Given the description of an element on the screen output the (x, y) to click on. 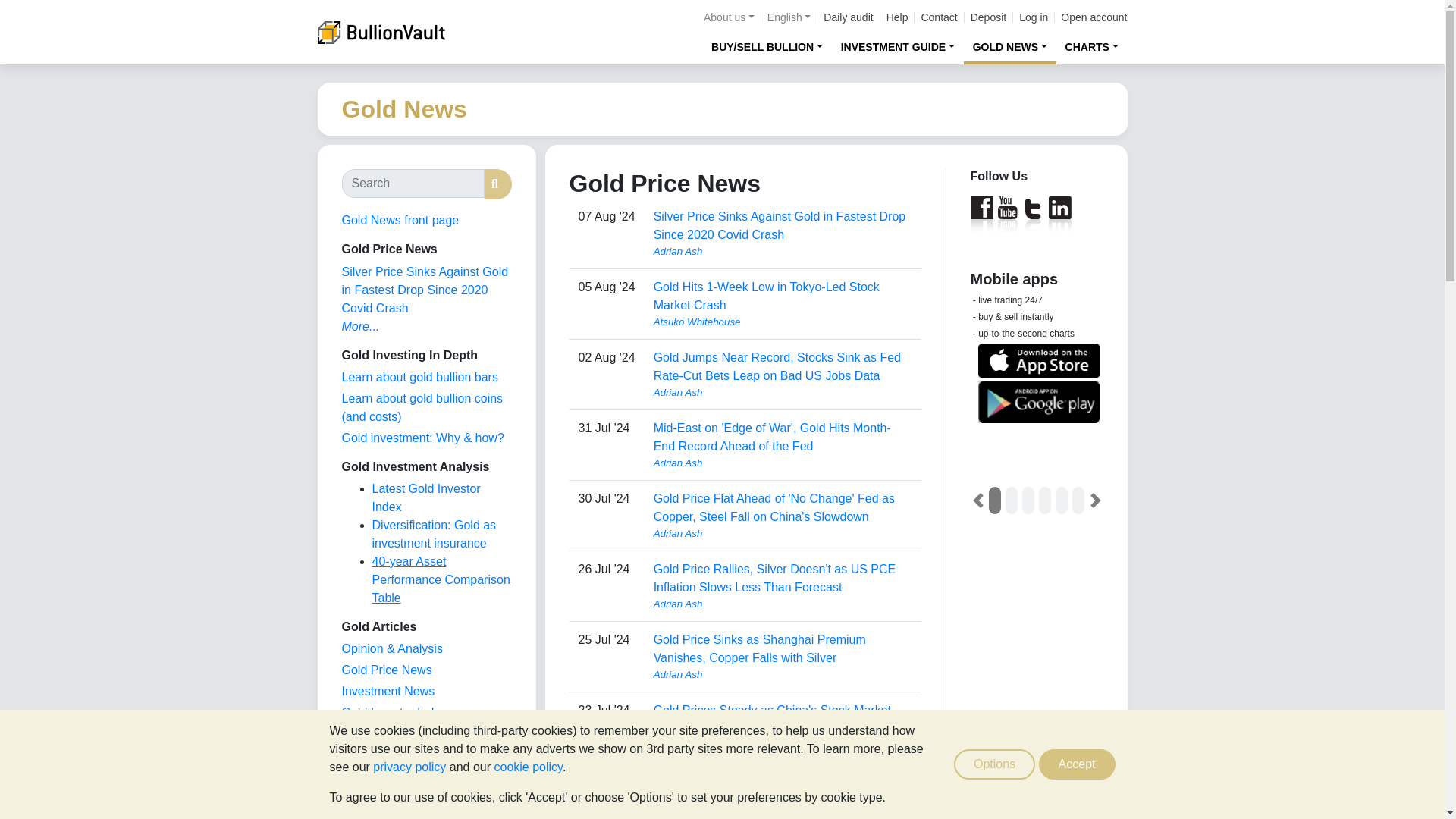
English (788, 17)
Help (897, 17)
About us (728, 17)
View user profile. (782, 392)
View user profile. (782, 674)
INVESTMENT GUIDE (897, 46)
View user profile. (782, 744)
The View from the Vault (391, 648)
Deposit (988, 17)
View user profile. (782, 251)
